Given the description of an element on the screen output the (x, y) to click on. 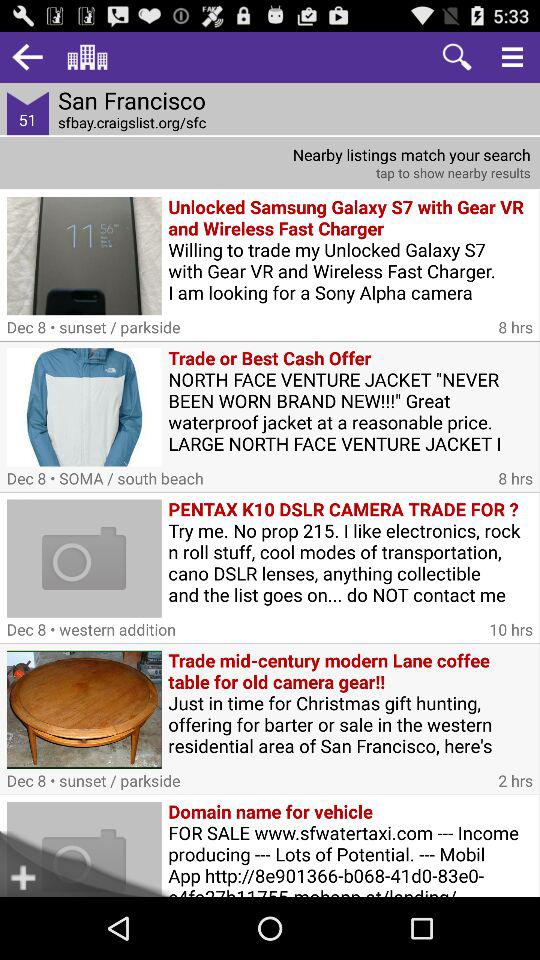
tap item next to san francisco icon (27, 56)
